Given the description of an element on the screen output the (x, y) to click on. 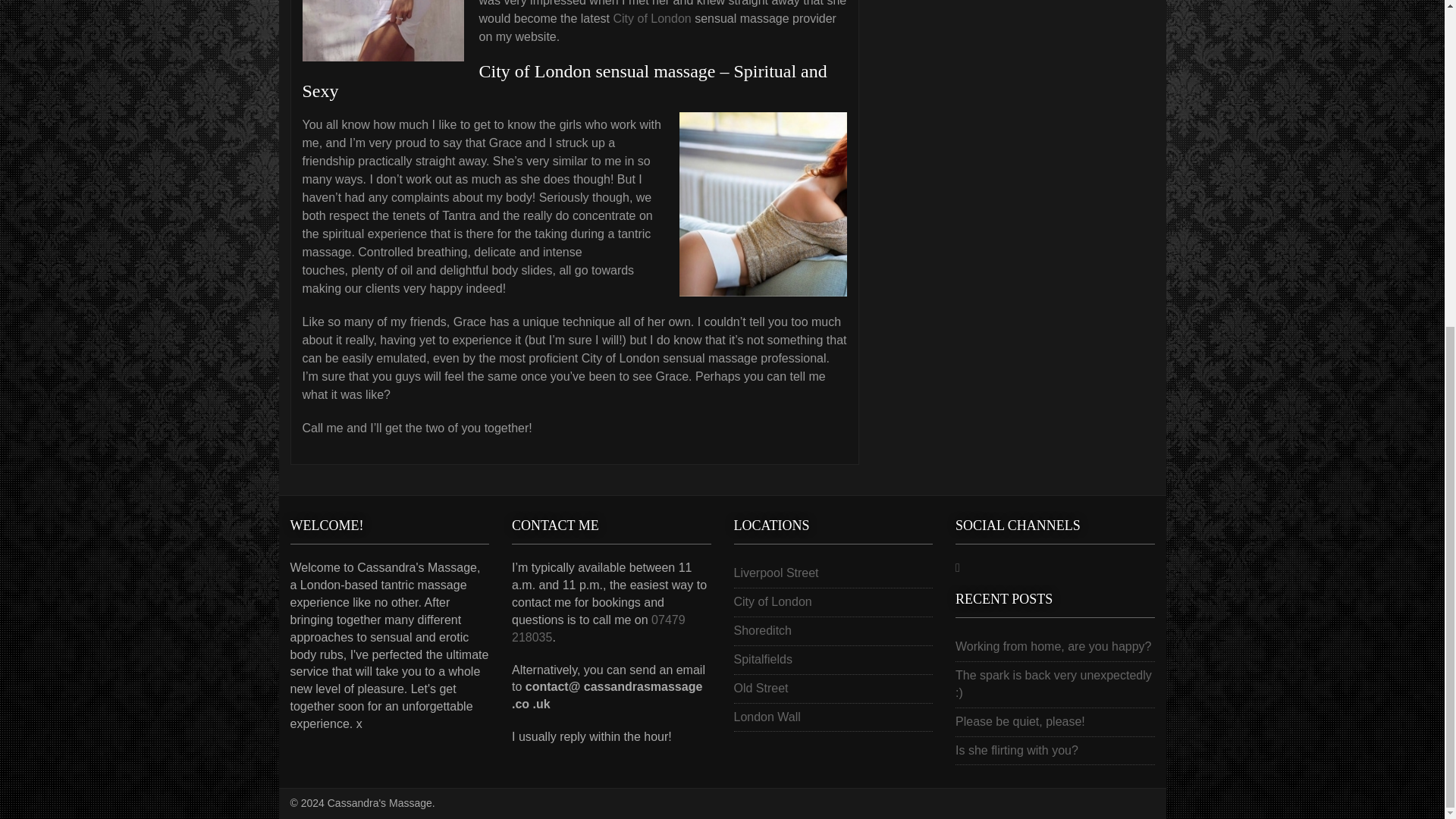
07479 218035 (598, 628)
Please be quiet, please! (1019, 721)
Working from home, are you happy? (1053, 645)
Is she flirting with you? (1016, 749)
City of London (651, 18)
Liverpool Street (775, 572)
Shoreditch (762, 630)
Old Street (761, 687)
Spitalfields (762, 658)
City of London (772, 601)
